Given the description of an element on the screen output the (x, y) to click on. 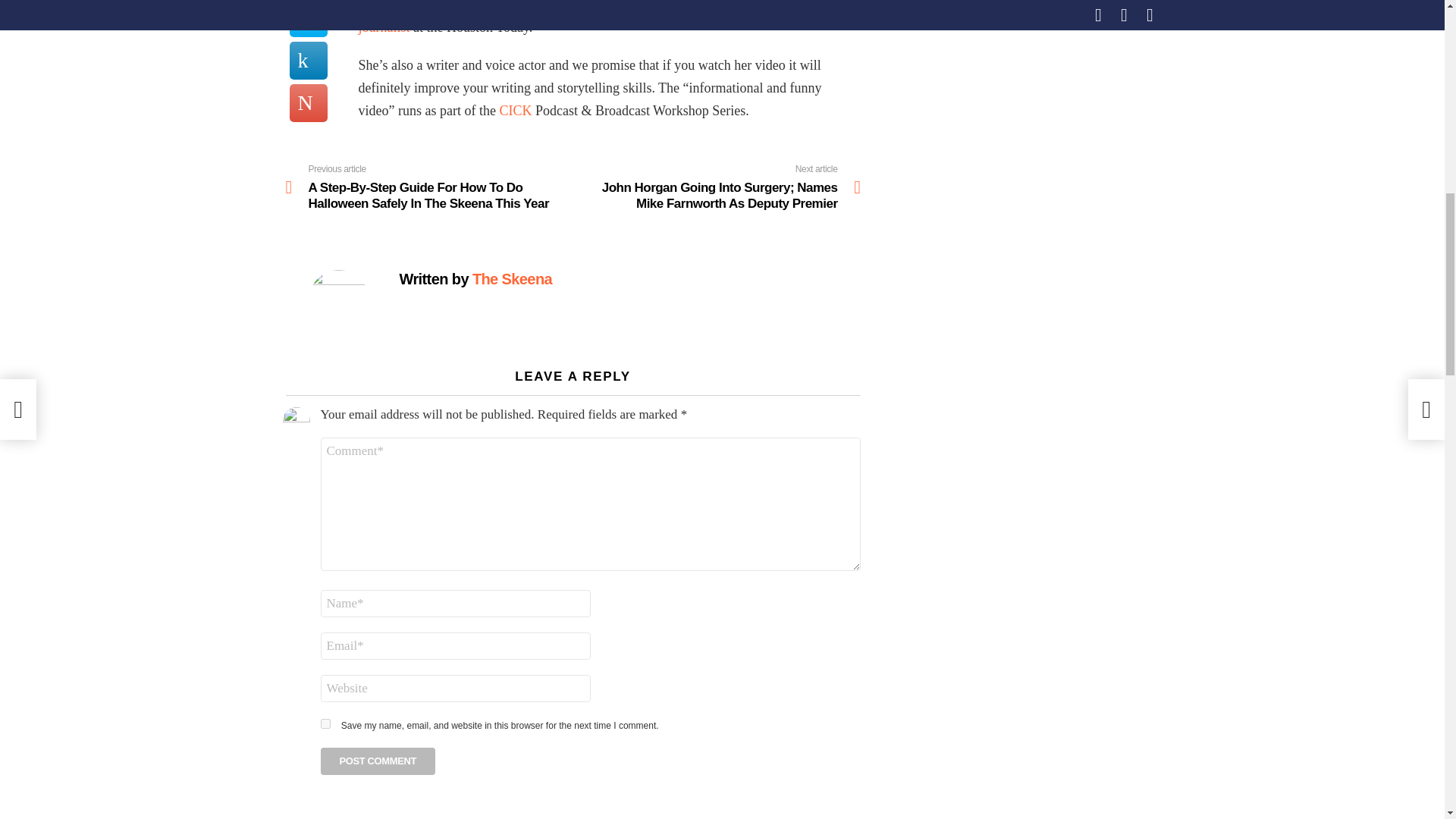
Post Comment (377, 760)
used to be a journalist (586, 17)
yes (325, 723)
Ann Marie Hak (674, 6)
CICK (515, 110)
The Skeena (511, 279)
Post Comment (377, 760)
